Given the description of an element on the screen output the (x, y) to click on. 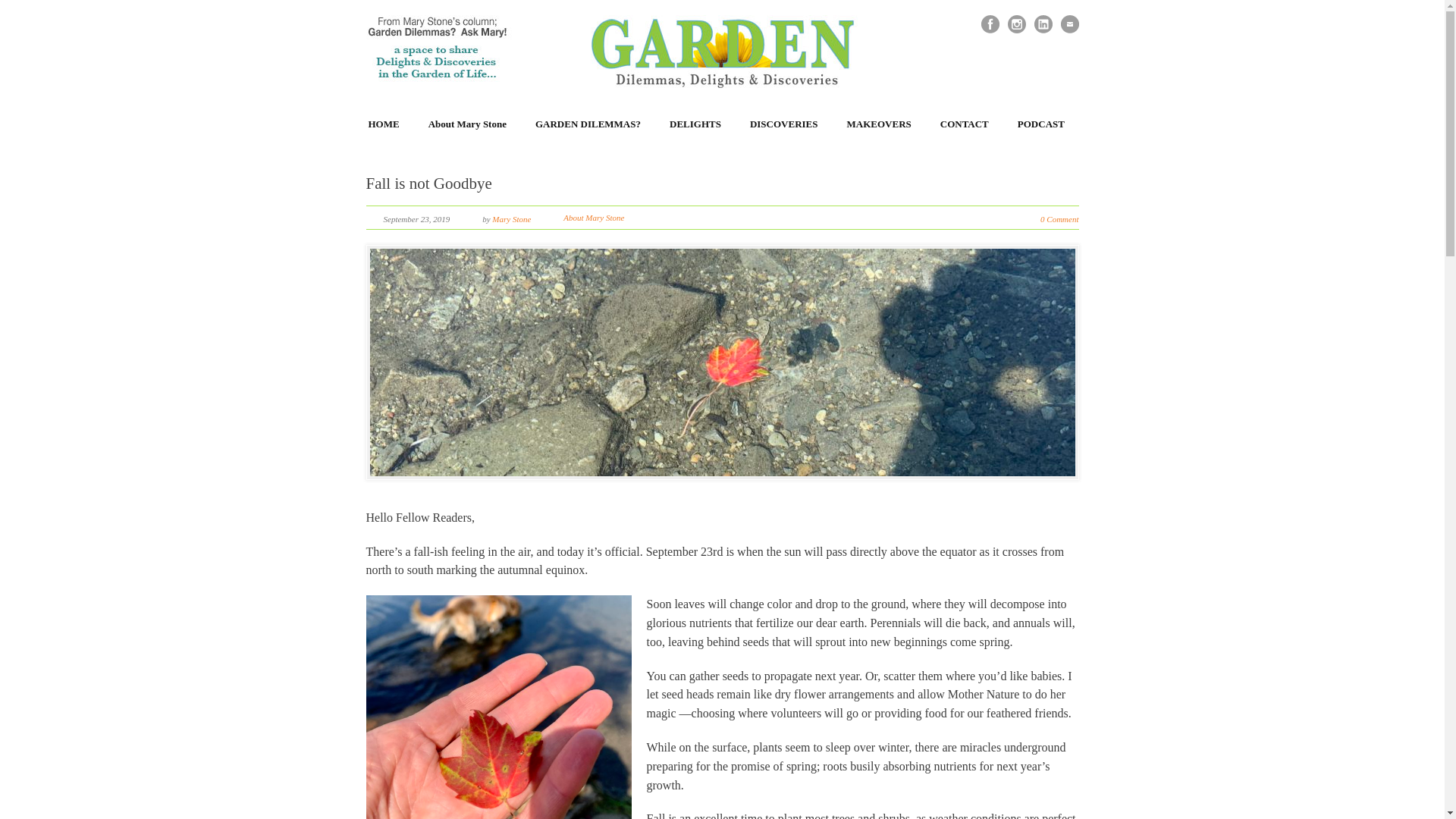
0 Comment (1059, 218)
DISCOVERIES (783, 124)
Fall is not Goodbye (428, 183)
About Mary Stone (467, 124)
CONTACT (964, 124)
MAKEOVERS (879, 124)
PODCAST (1040, 124)
About Mary Stone (593, 216)
HOME (384, 124)
